Given the description of an element on the screen output the (x, y) to click on. 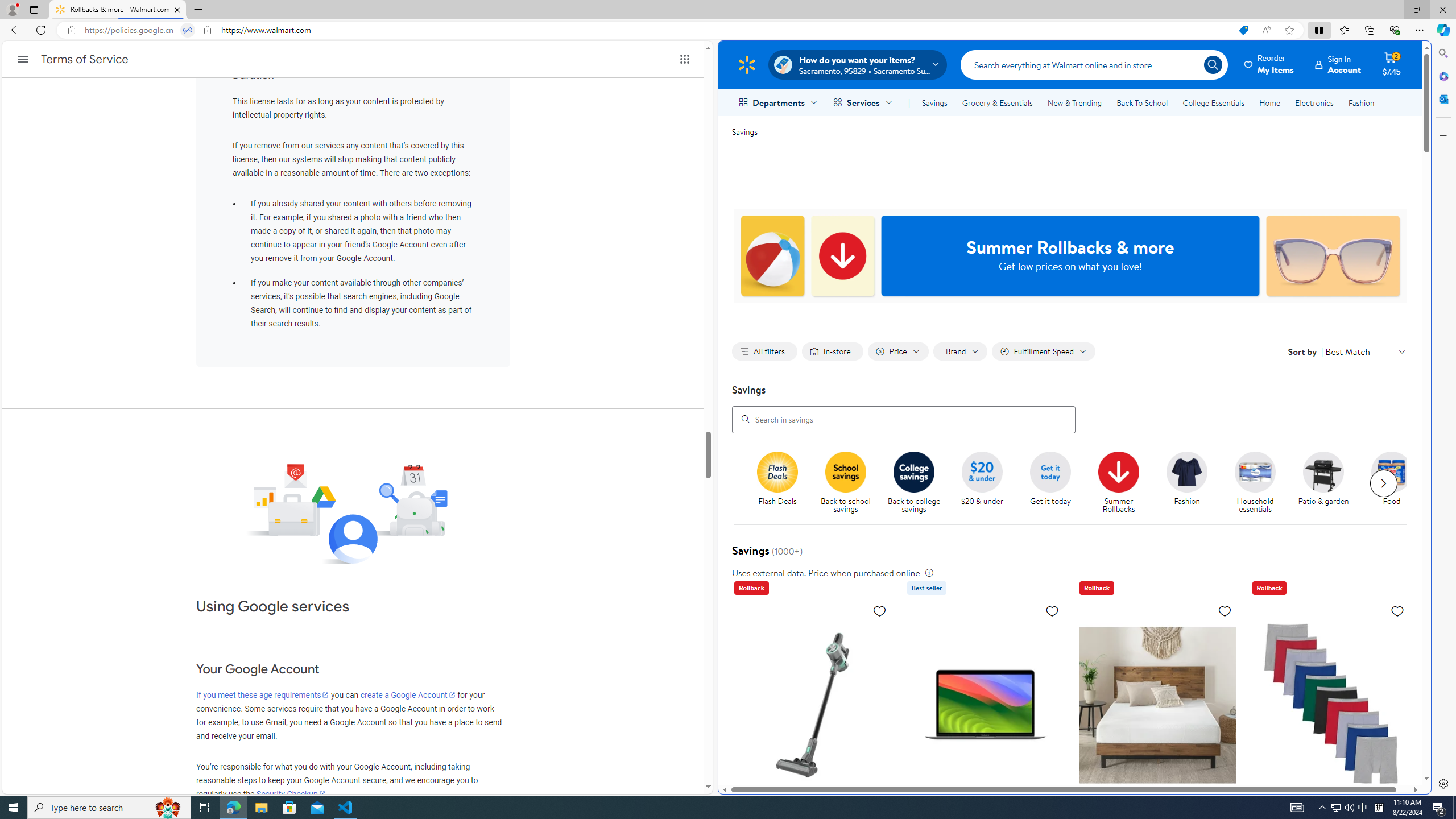
Address and search bar (658, 29)
Back To School (1141, 102)
Food Food (1391, 478)
Back to College savings (913, 471)
Side bar (1443, 418)
Customize (1442, 135)
Fashion (1361, 102)
Household essentials (1254, 471)
Fashion Fashion (1187, 478)
Home (1269, 102)
Close Outlook pane (1442, 98)
Fashion (1186, 471)
Home (1269, 102)
